Given the description of an element on the screen output the (x, y) to click on. 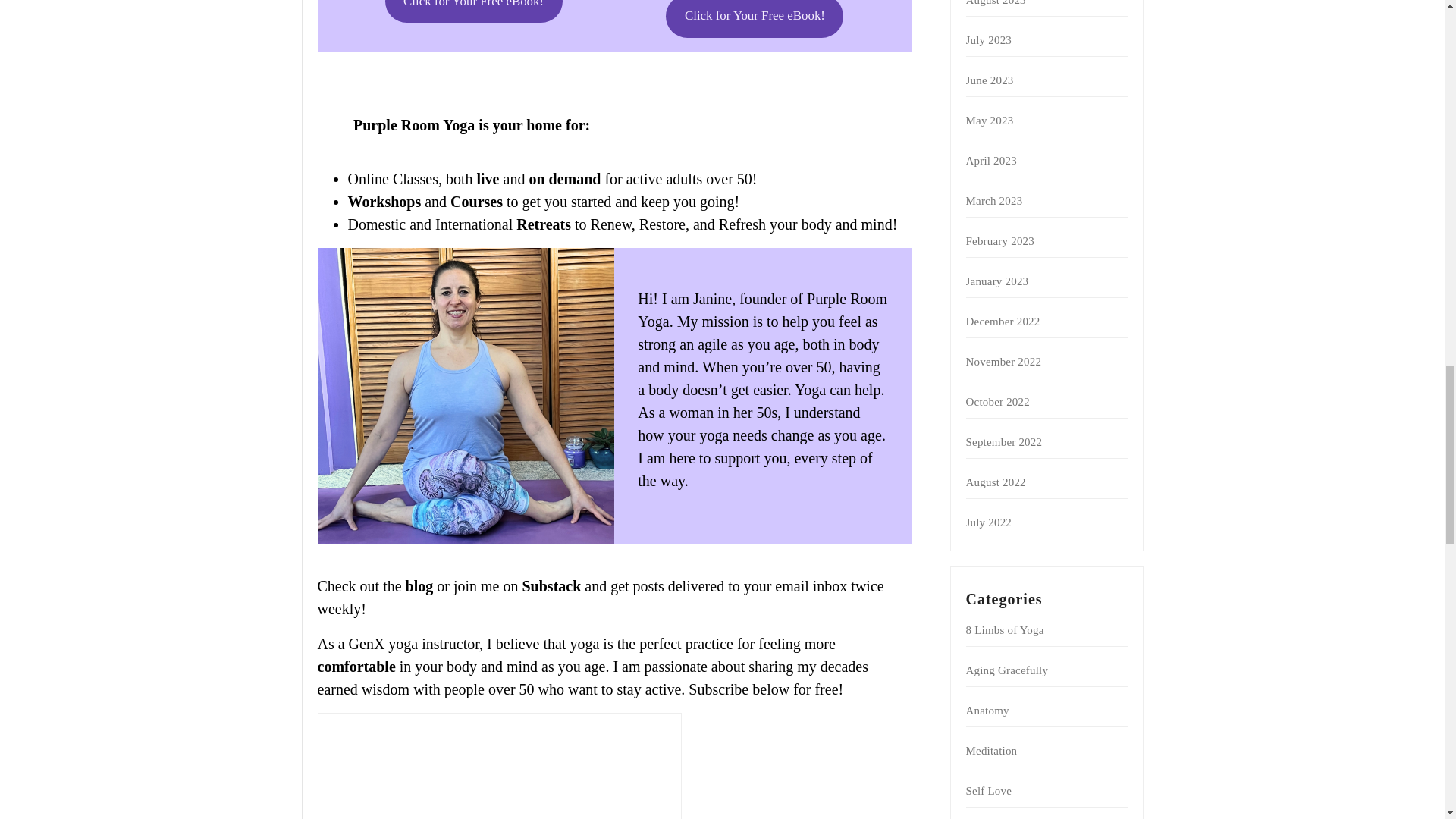
Workshops (386, 200)
on demand (563, 177)
Click for Your Free eBook! (754, 18)
live (489, 177)
Retreats (543, 223)
blog (419, 586)
Courses (475, 200)
Substack (550, 586)
Click for Your Free eBook! (473, 11)
